Given the description of an element on the screen output the (x, y) to click on. 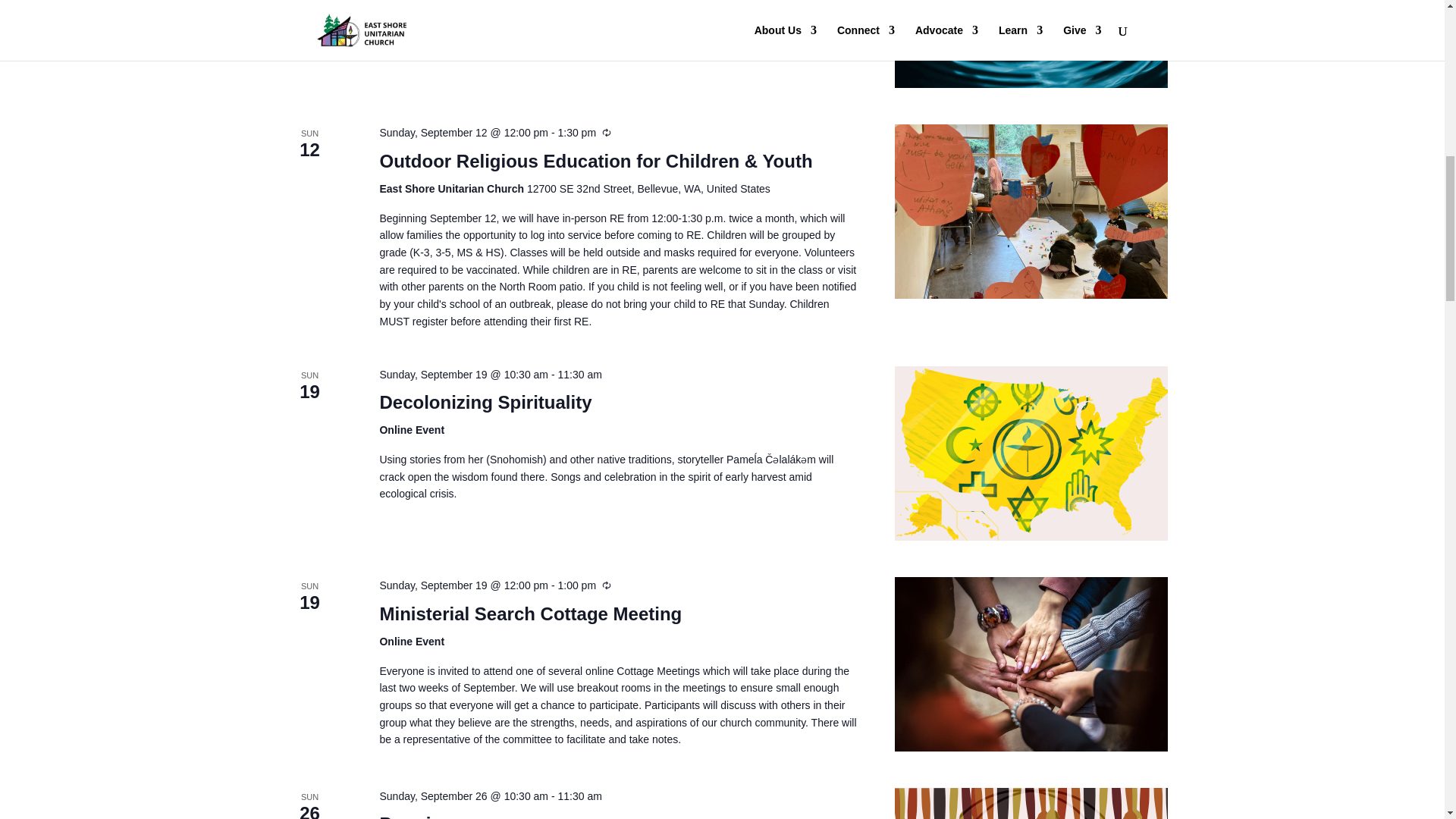
Water Communion (1031, 43)
Recurring (606, 132)
Recurring (606, 584)
